Given the description of an element on the screen output the (x, y) to click on. 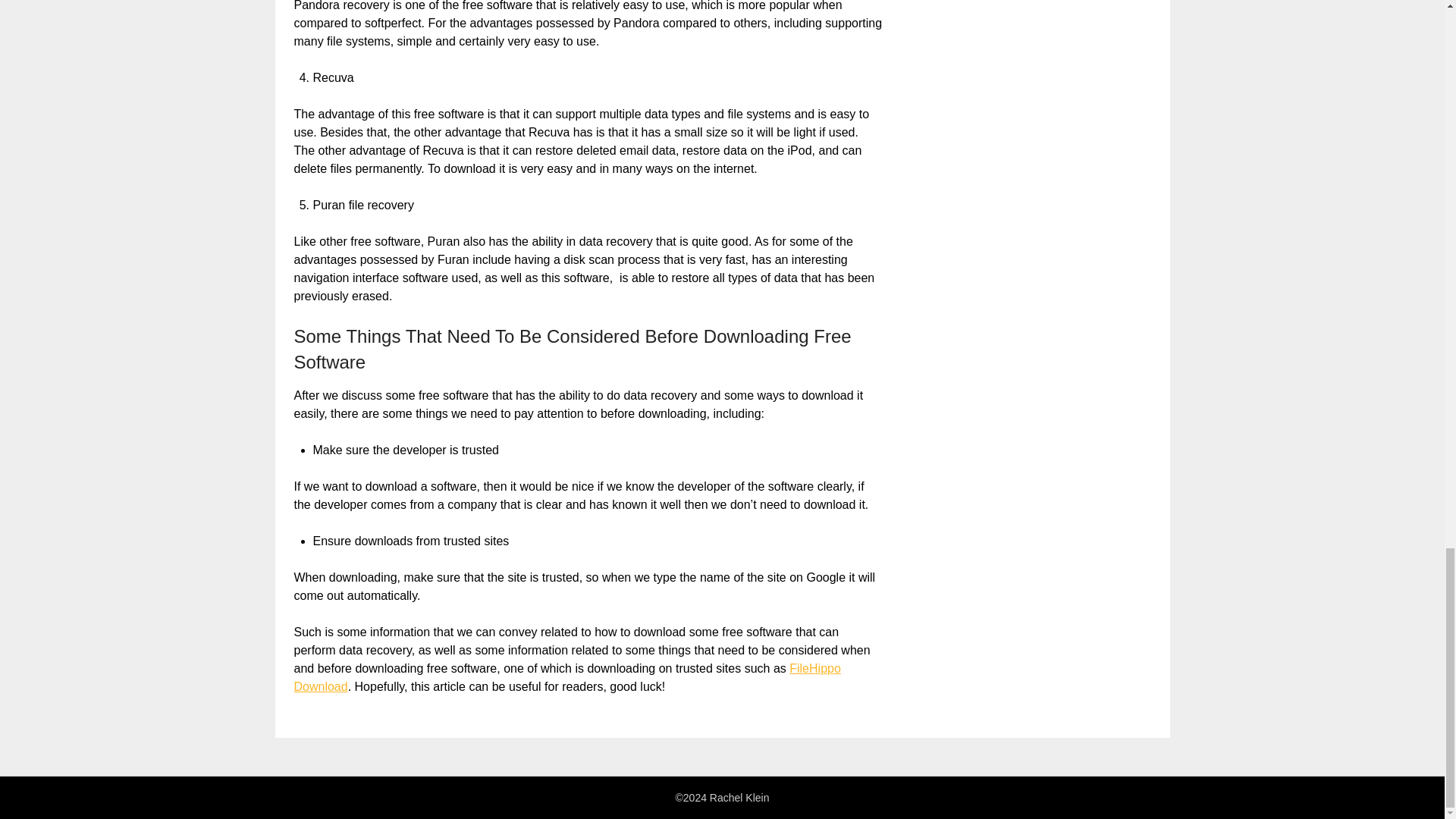
FileHippo Download (567, 676)
